Given the description of an element on the screen output the (x, y) to click on. 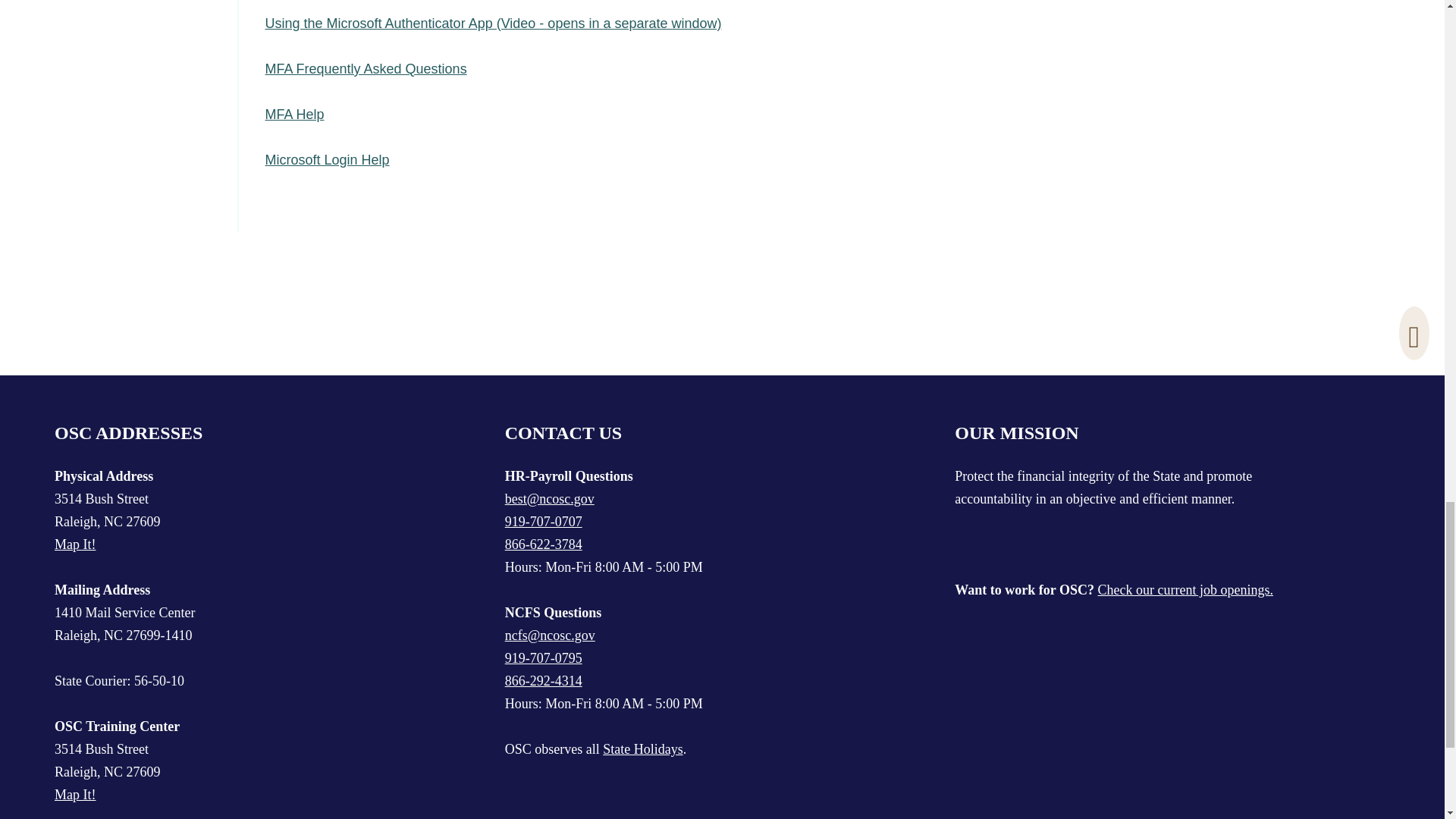
Microsoft Login Help (327, 159)
MFA Help (294, 114)
MFA Frequently Asked Questions (365, 68)
